Given the description of an element on the screen output the (x, y) to click on. 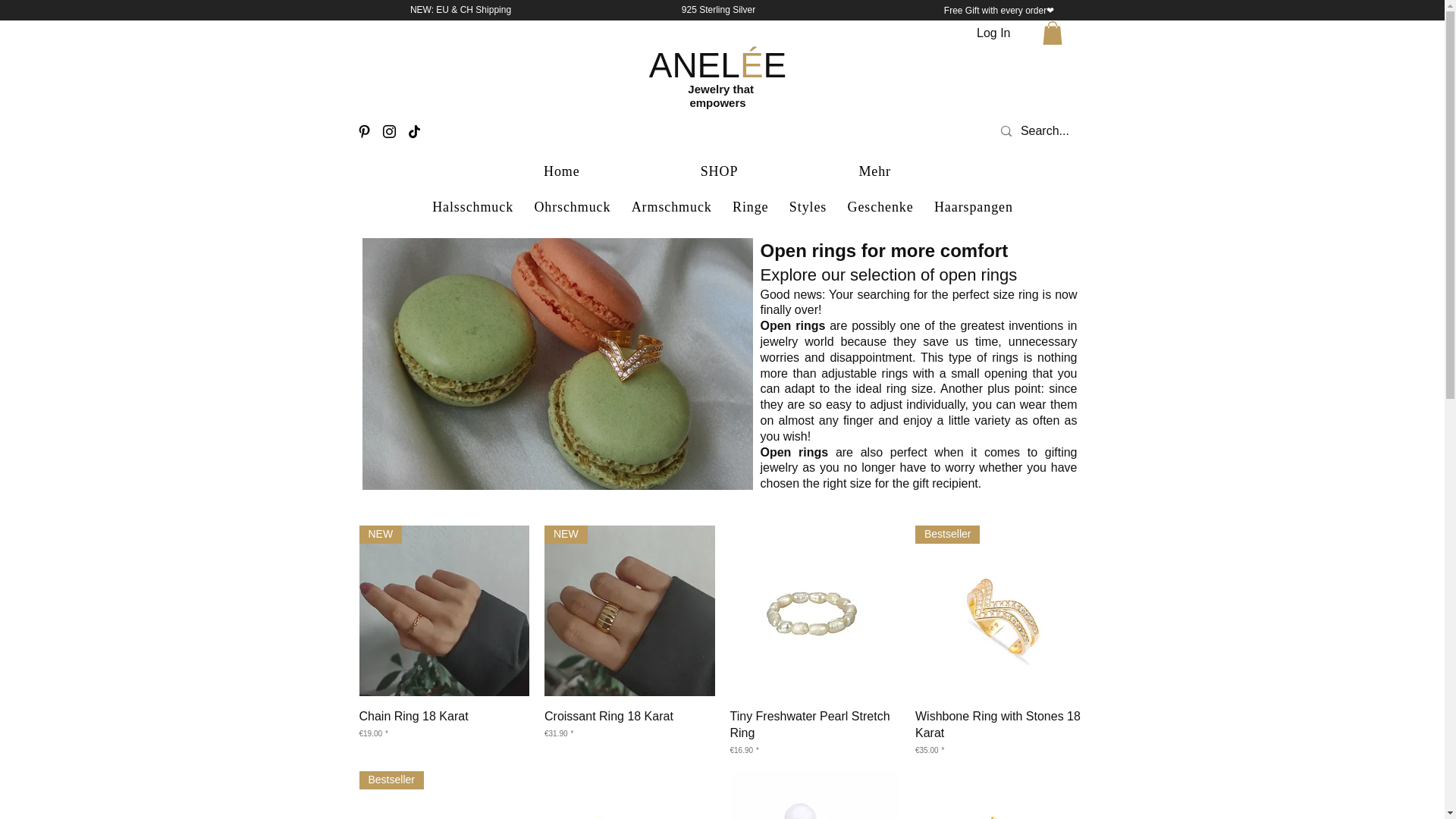
NEW (444, 610)
Halsschmuck (472, 207)
NEW (629, 610)
Bestseller (1000, 610)
Mehr (875, 171)
Log In (993, 32)
  Jewelry that empowers (717, 95)
Bestseller (444, 795)
Home (561, 171)
SHOP (718, 171)
